Given the description of an element on the screen output the (x, y) to click on. 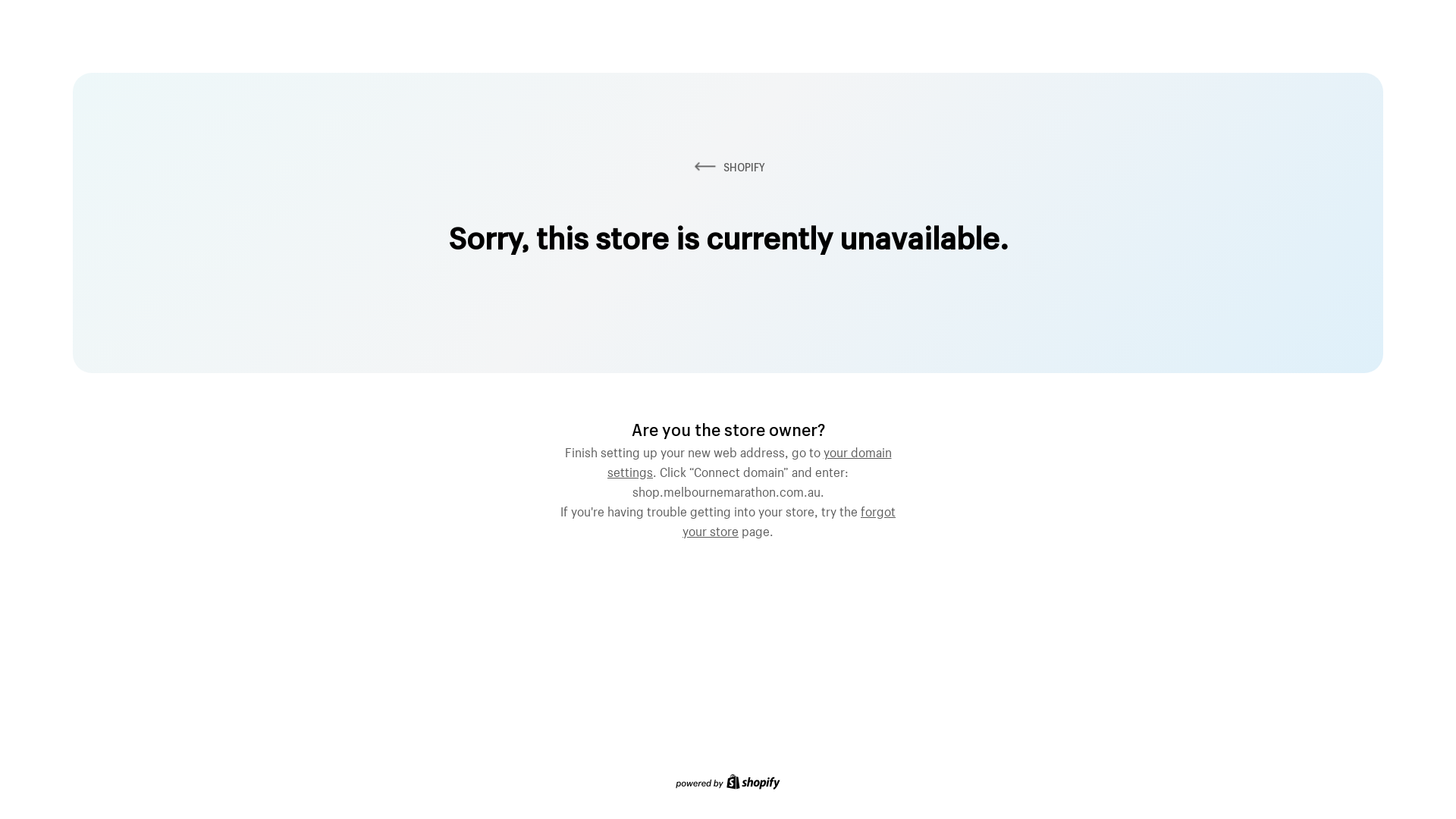
your domain settings Element type: text (749, 460)
forgot your store Element type: text (788, 519)
SHOPIFY Element type: text (727, 167)
